Given the description of an element on the screen output the (x, y) to click on. 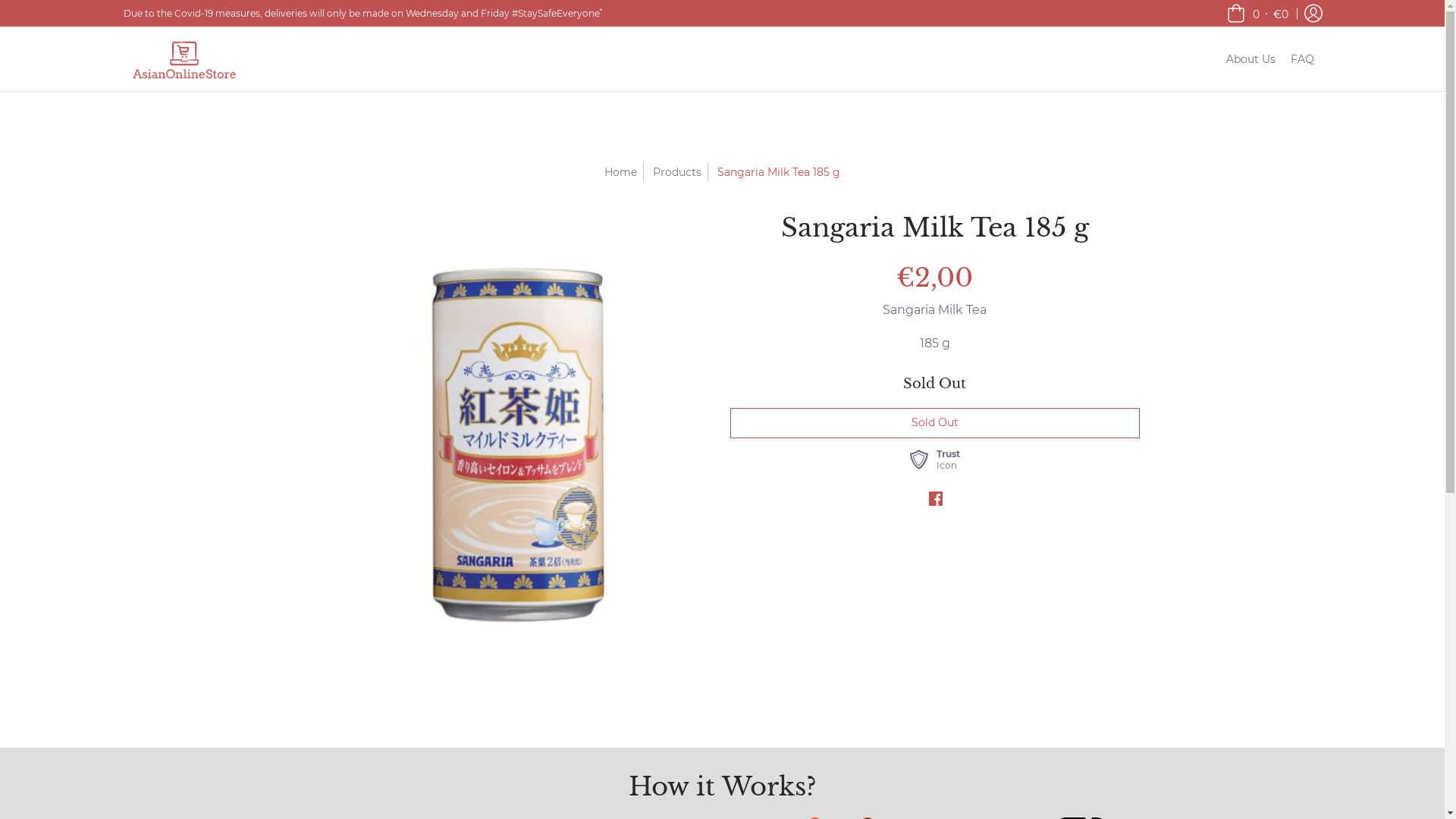
AsianOnlineStore Belgium Element type: hover (183, 59)
FAQ Element type: text (1302, 59)
Home Element type: text (620, 171)
Sold Out Element type: text (934, 422)
Products Element type: text (676, 171)
Log in Element type: hover (1312, 13)
About Us Element type: text (1249, 59)
